Given the description of an element on the screen output the (x, y) to click on. 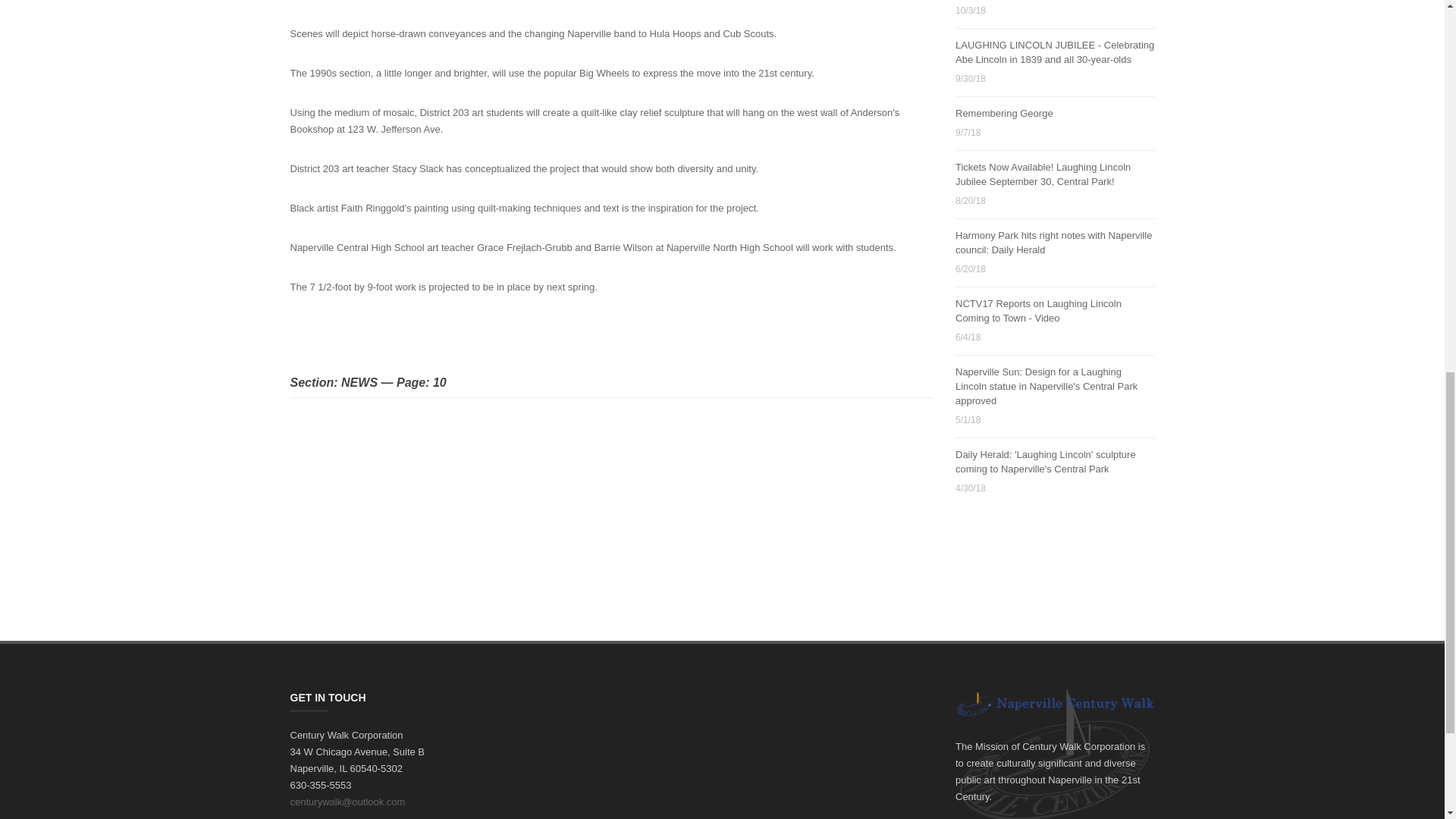
NCTV17 Reports on Laughing Lincoln Coming to Town - Video (1038, 310)
Remembering George (1003, 112)
